Given the description of an element on the screen output the (x, y) to click on. 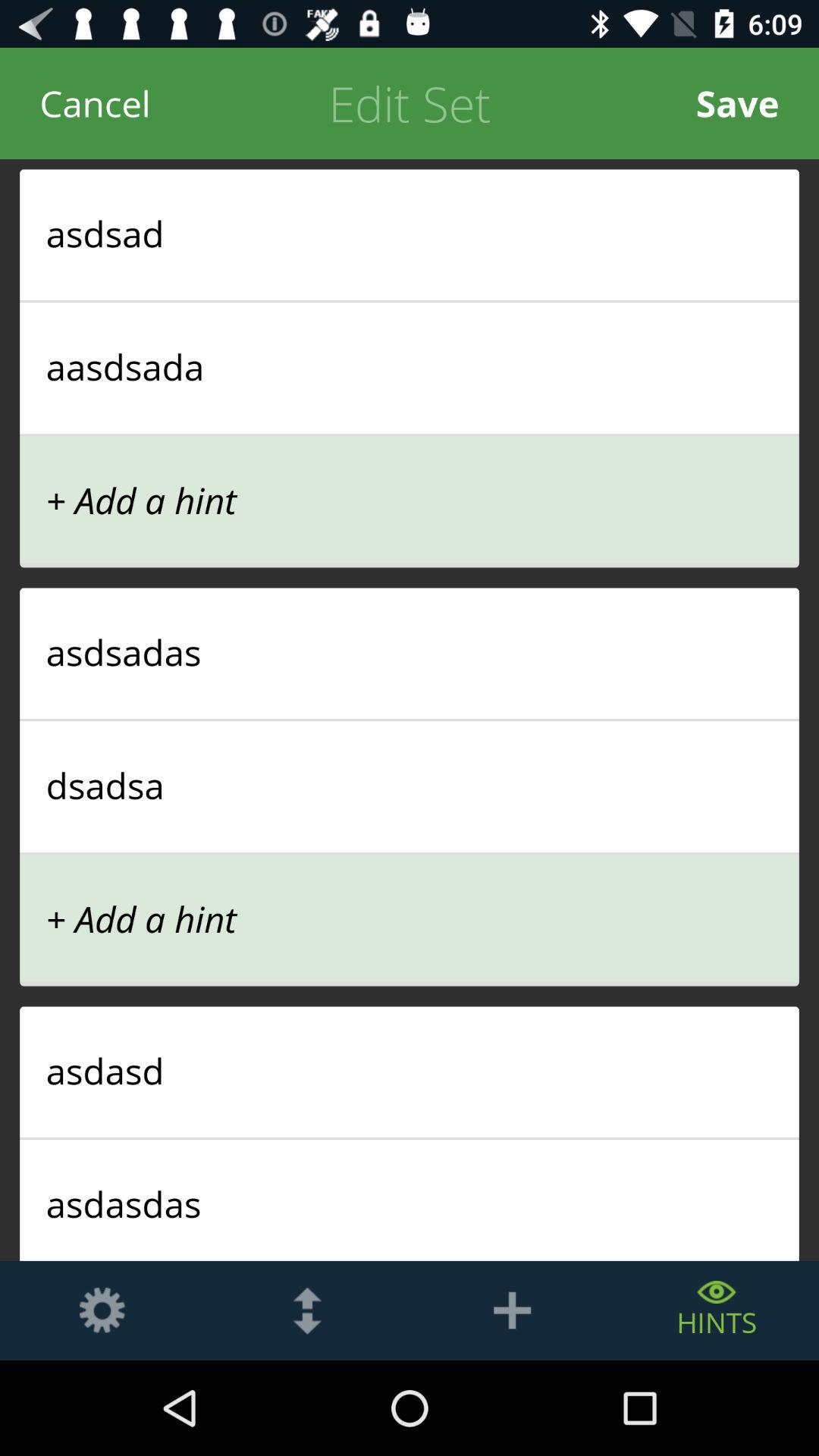
jump until the dsadsa (409, 784)
